Given the description of an element on the screen output the (x, y) to click on. 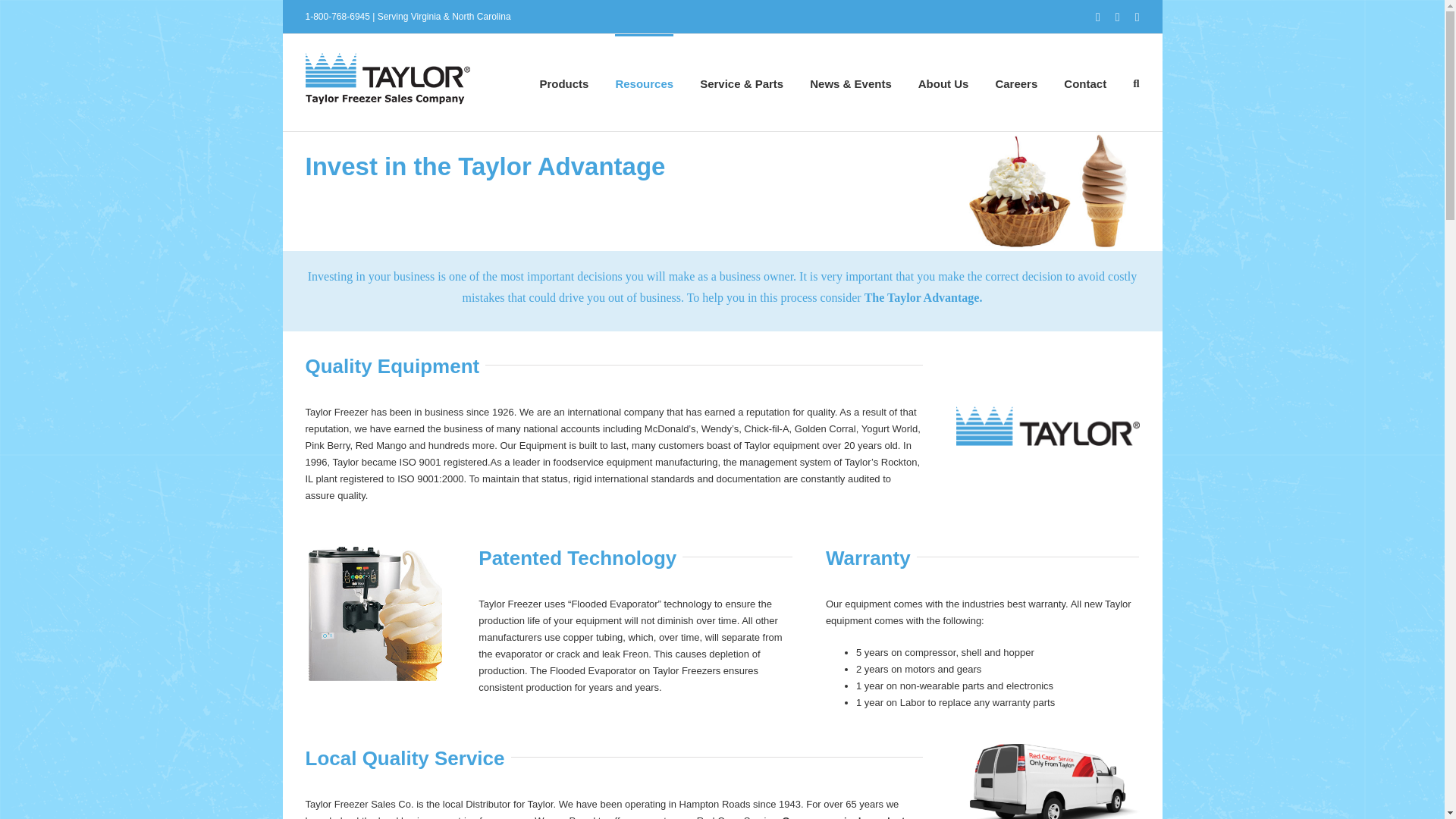
Taylor-logo (1046, 425)
machine-cone (374, 613)
Invest in the Taylor Advantage (721, 190)
red-cape-van (1046, 781)
waffle (1046, 190)
